Given the description of an element on the screen output the (x, y) to click on. 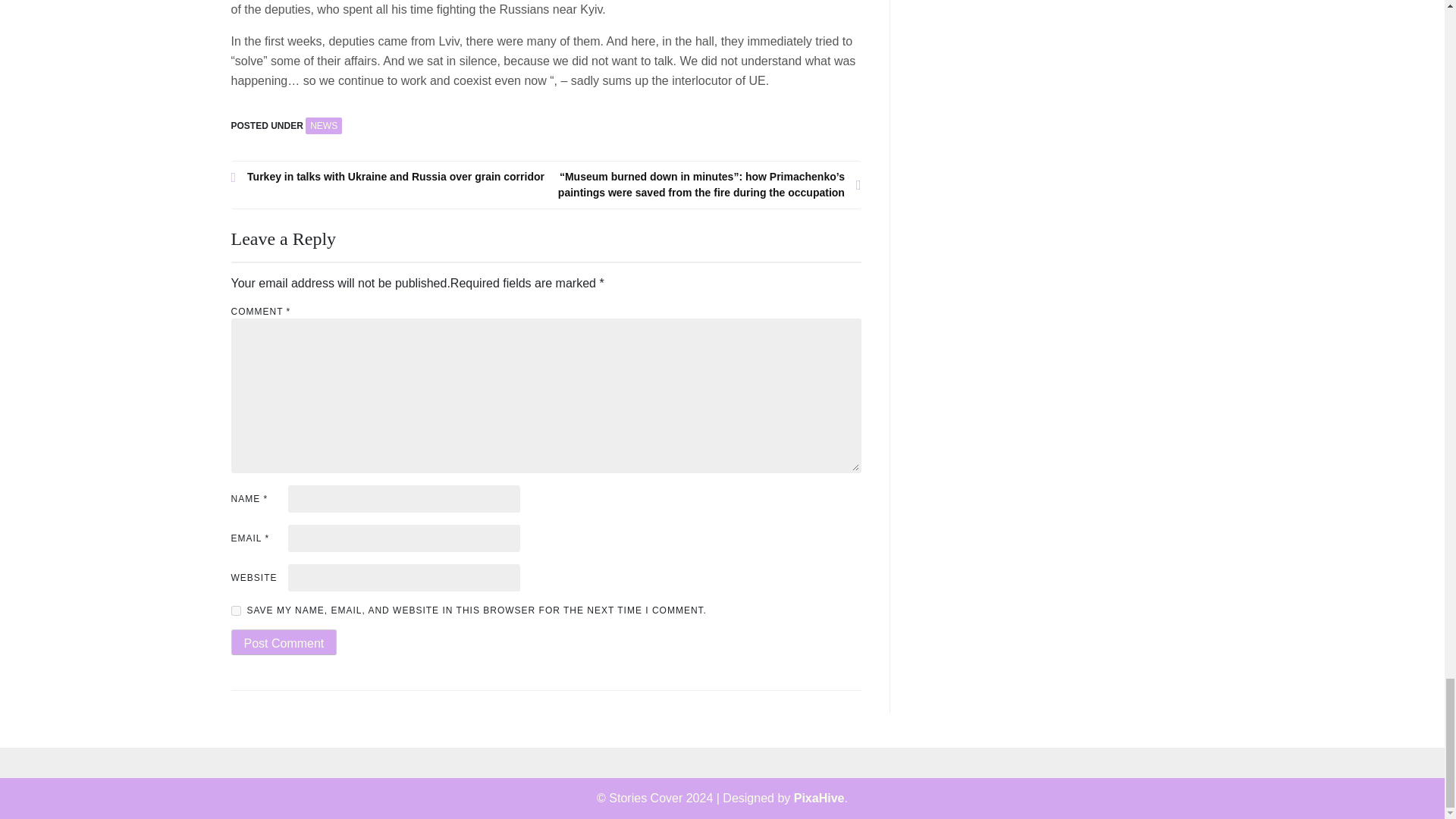
NEWS (323, 125)
Turkey in talks with Ukraine and Russia over grain corridor (388, 176)
Post Comment (283, 642)
yes (235, 610)
